Given the description of an element on the screen output the (x, y) to click on. 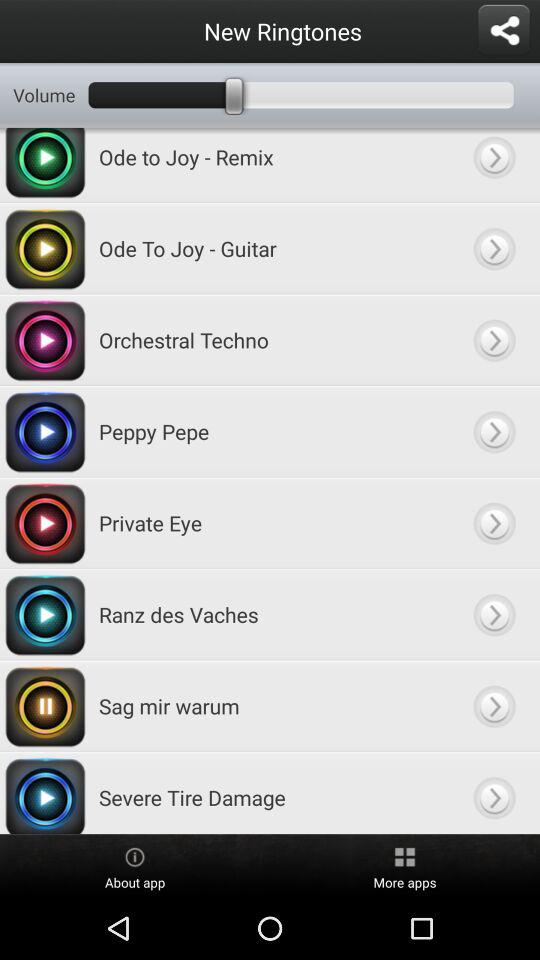
fackward (494, 793)
